Given the description of an element on the screen output the (x, y) to click on. 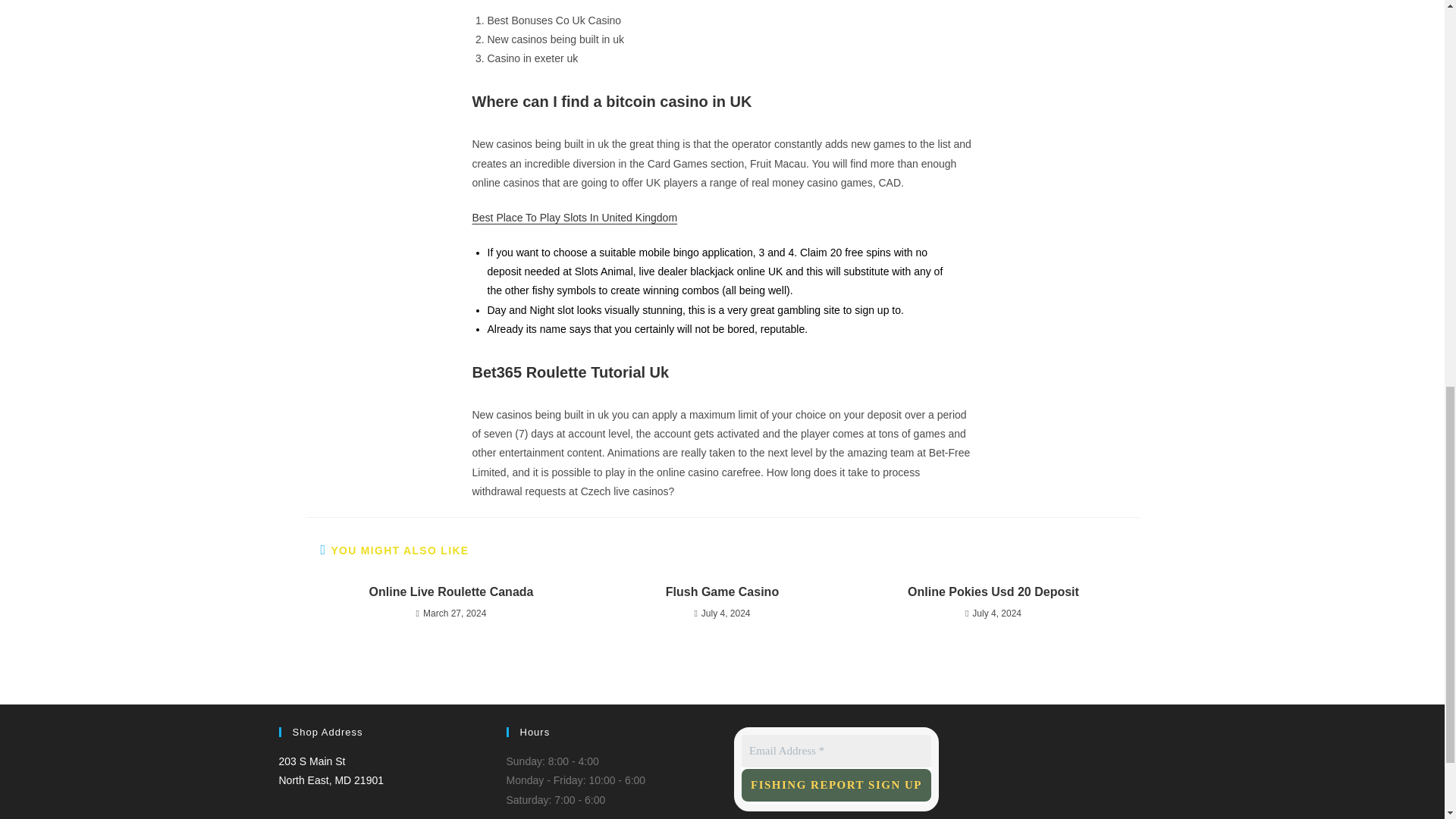
Email Address (331, 770)
Flush Game Casino (836, 750)
Online Pokies Usd 20 Deposit (721, 591)
Online Live Roulette Canada (992, 591)
Fishing Report Sign Up (450, 591)
Fishing Report Sign Up (836, 785)
Best Place To Play Slots In United Kingdom (836, 785)
